Given the description of an element on the screen output the (x, y) to click on. 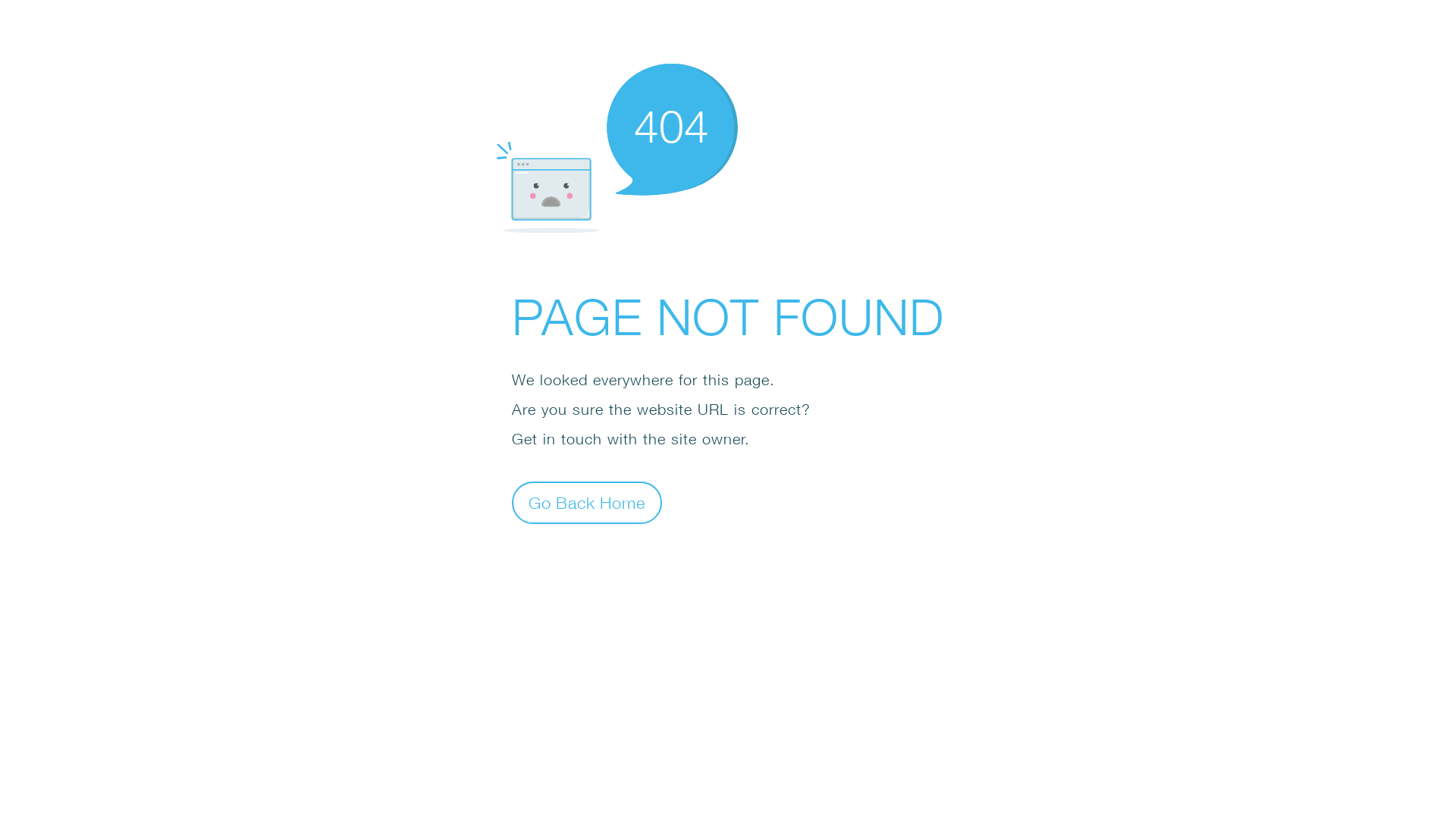
Go Back Home Element type: text (586, 502)
